Given the description of an element on the screen output the (x, y) to click on. 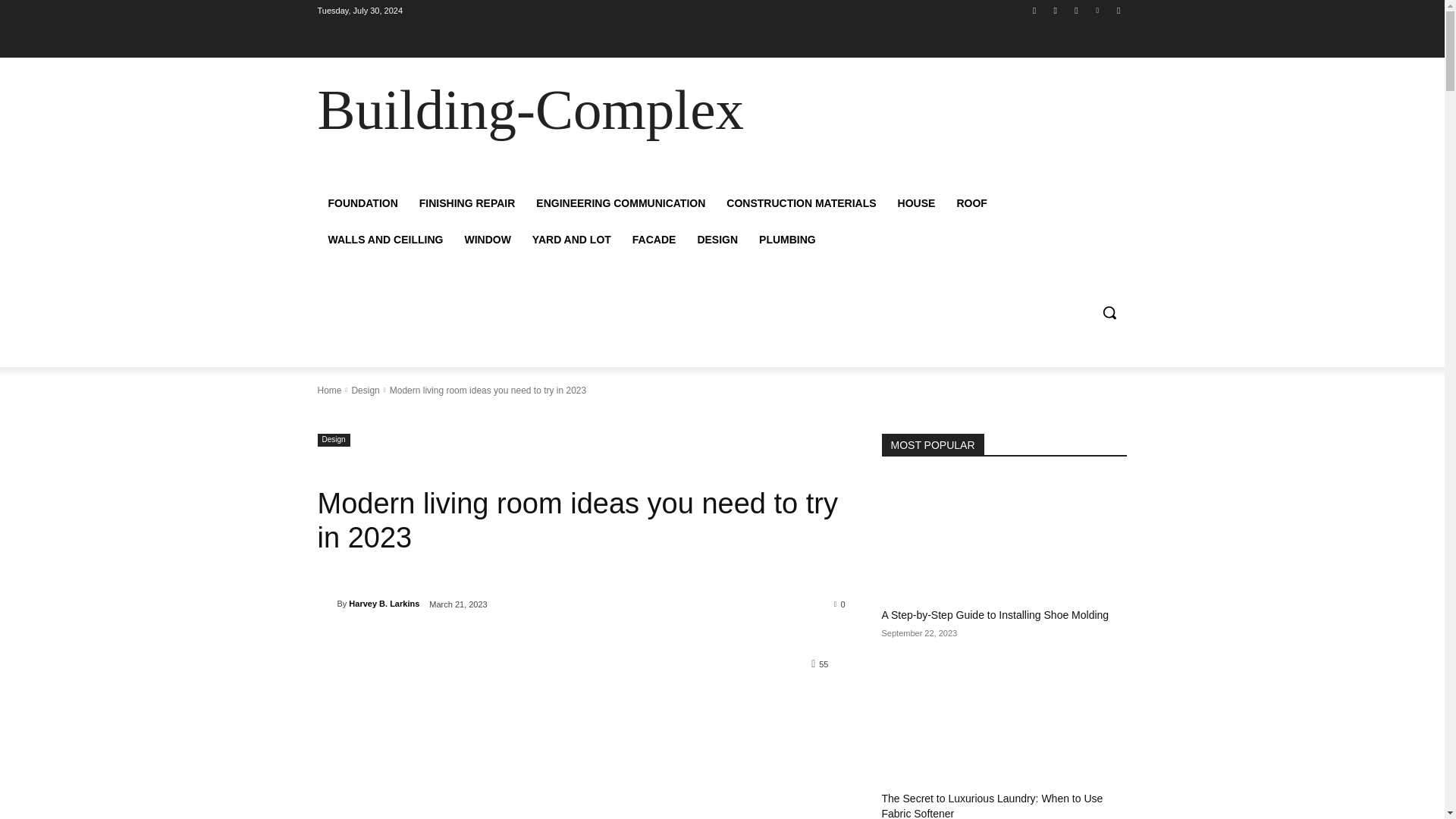
FINISHING REPAIR (467, 203)
WALLS AND CEILLING (384, 239)
WINDOW (486, 239)
ROOF (970, 203)
Vimeo (1097, 9)
Youtube (1117, 9)
Facebook (1034, 9)
ENGINEERING COMMUNICATION (620, 203)
CONSTRUCTION MATERIALS (801, 203)
FACADE (654, 239)
Building-Complex (425, 109)
Twitter (1075, 9)
YARD AND LOT (571, 239)
HOUSE (916, 203)
Home (328, 389)
